Given the description of an element on the screen output the (x, y) to click on. 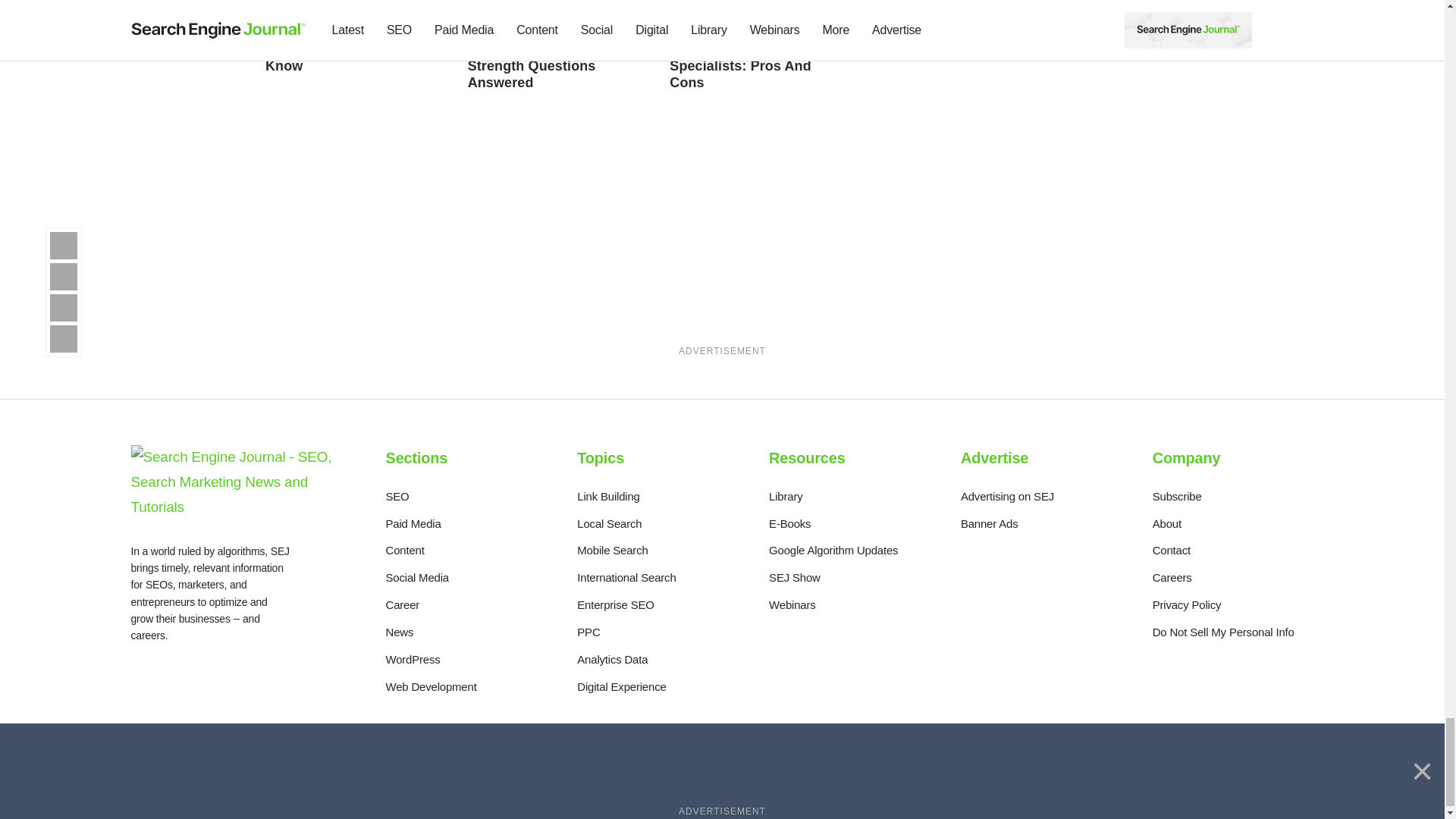
Read the Article (351, 9)
Read the Article (335, 49)
Read the Article (739, 57)
Read the Article (755, 9)
Read the Article (544, 57)
Read the Article (553, 9)
